Given the description of an element on the screen output the (x, y) to click on. 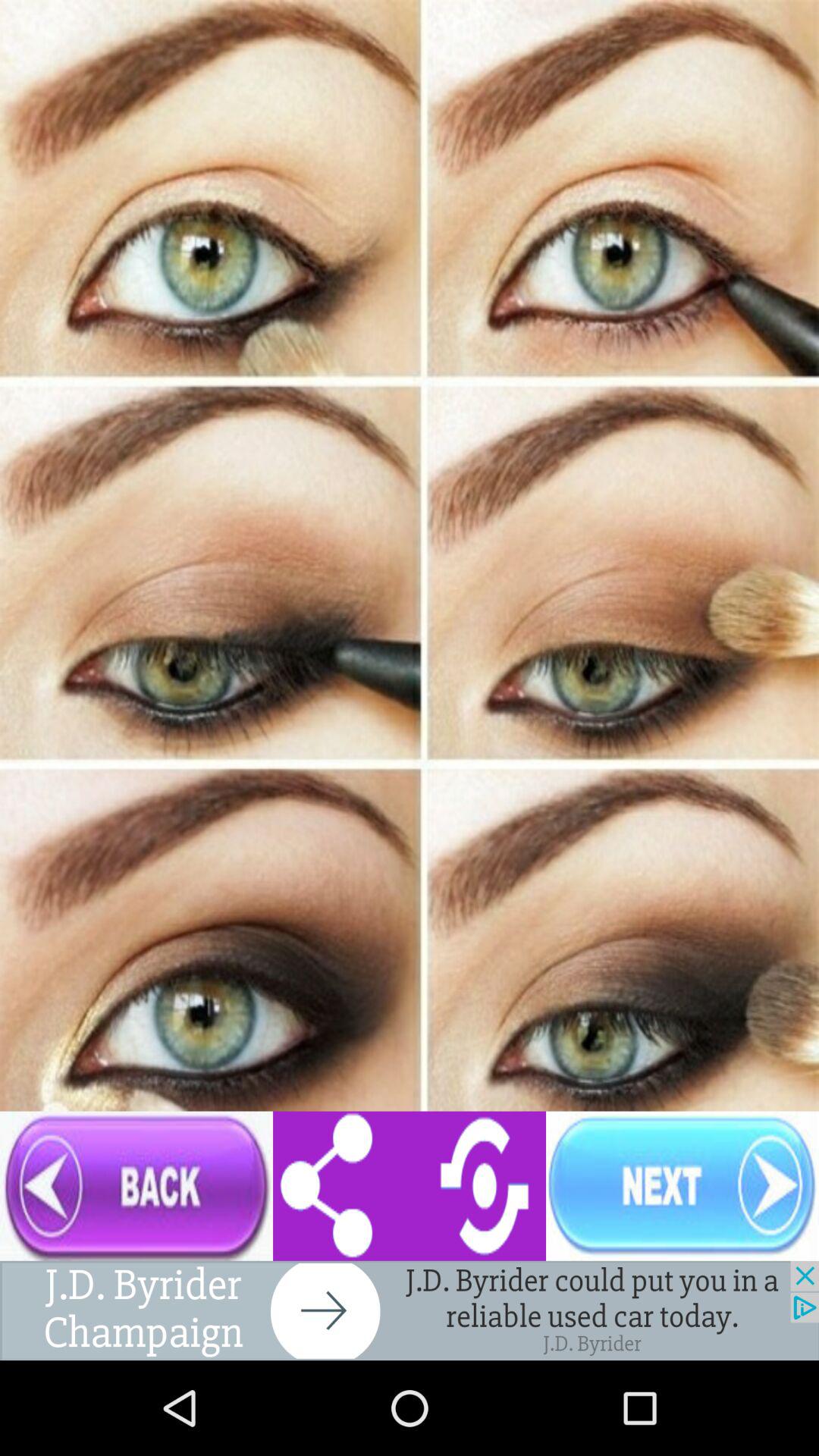
toggle advertisement (409, 1310)
